Given the description of an element on the screen output the (x, y) to click on. 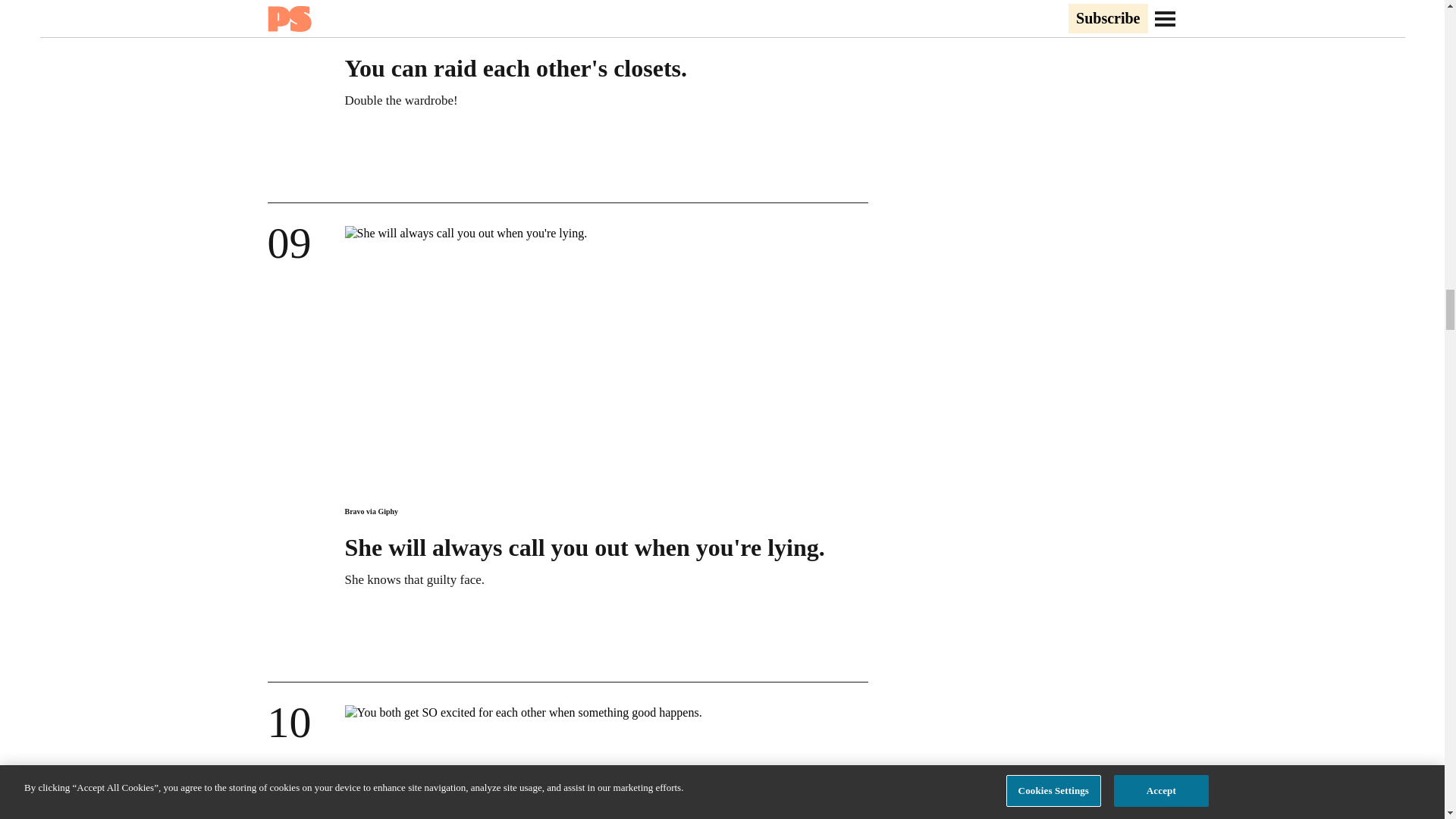
Bravo via Giphy (370, 510)
The CW via Giphy (374, 31)
